Given the description of an element on the screen output the (x, y) to click on. 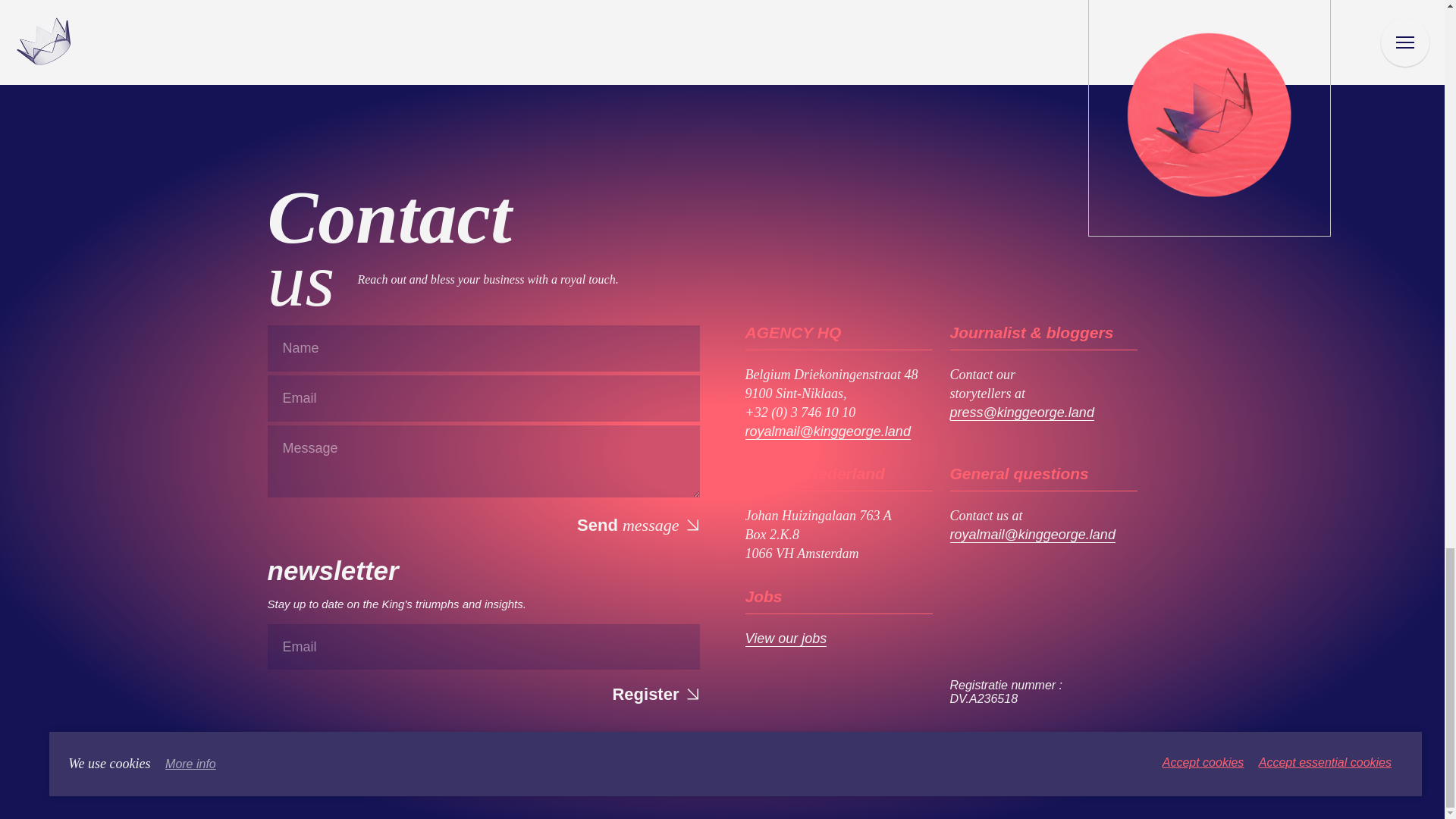
Privacy policy (396, 767)
Register (654, 694)
View our jobs (785, 638)
Send message (636, 525)
Algemene voorwaarden (310, 767)
